Given the description of an element on the screen output the (x, y) to click on. 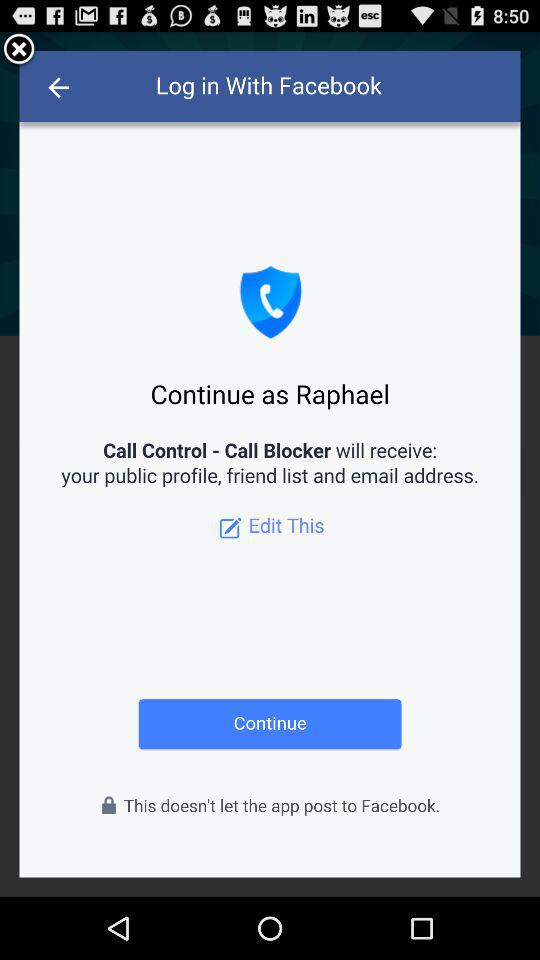
open the icon at the top left corner (19, 50)
